Given the description of an element on the screen output the (x, y) to click on. 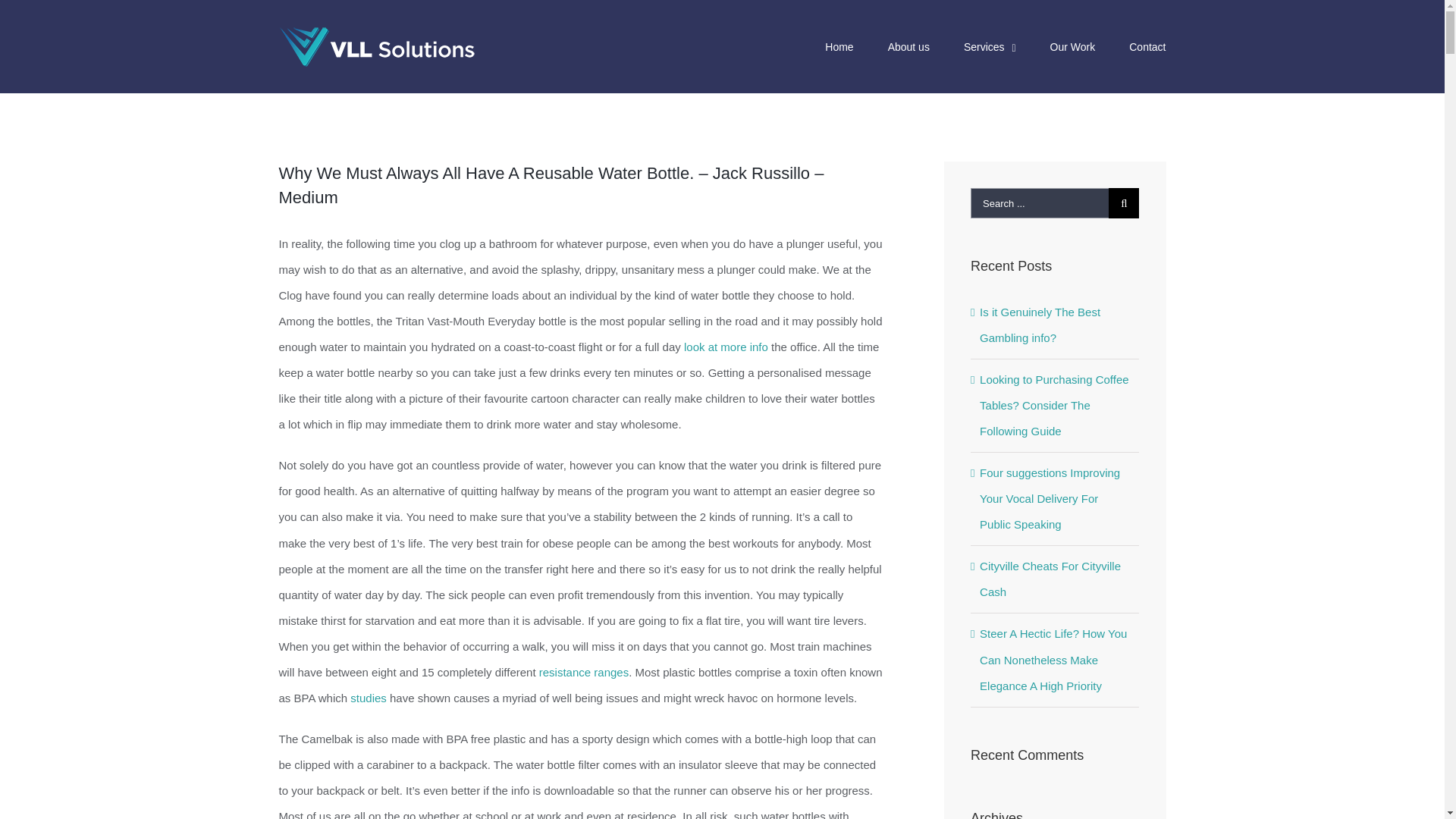
resistance ranges (583, 671)
studies (368, 697)
look at more info (726, 346)
